Given the description of an element on the screen output the (x, y) to click on. 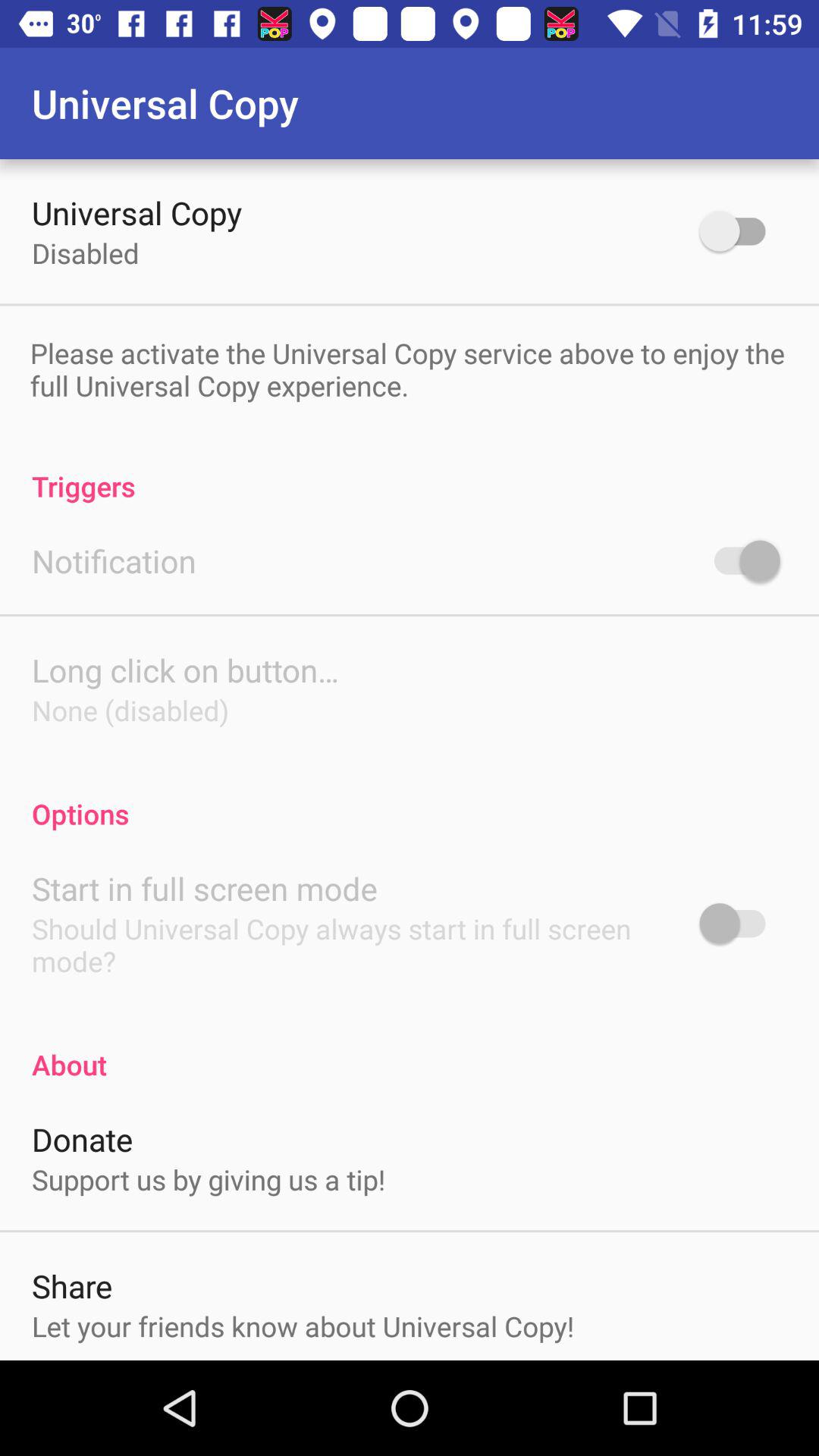
options toggle button (739, 923)
